Given the description of an element on the screen output the (x, y) to click on. 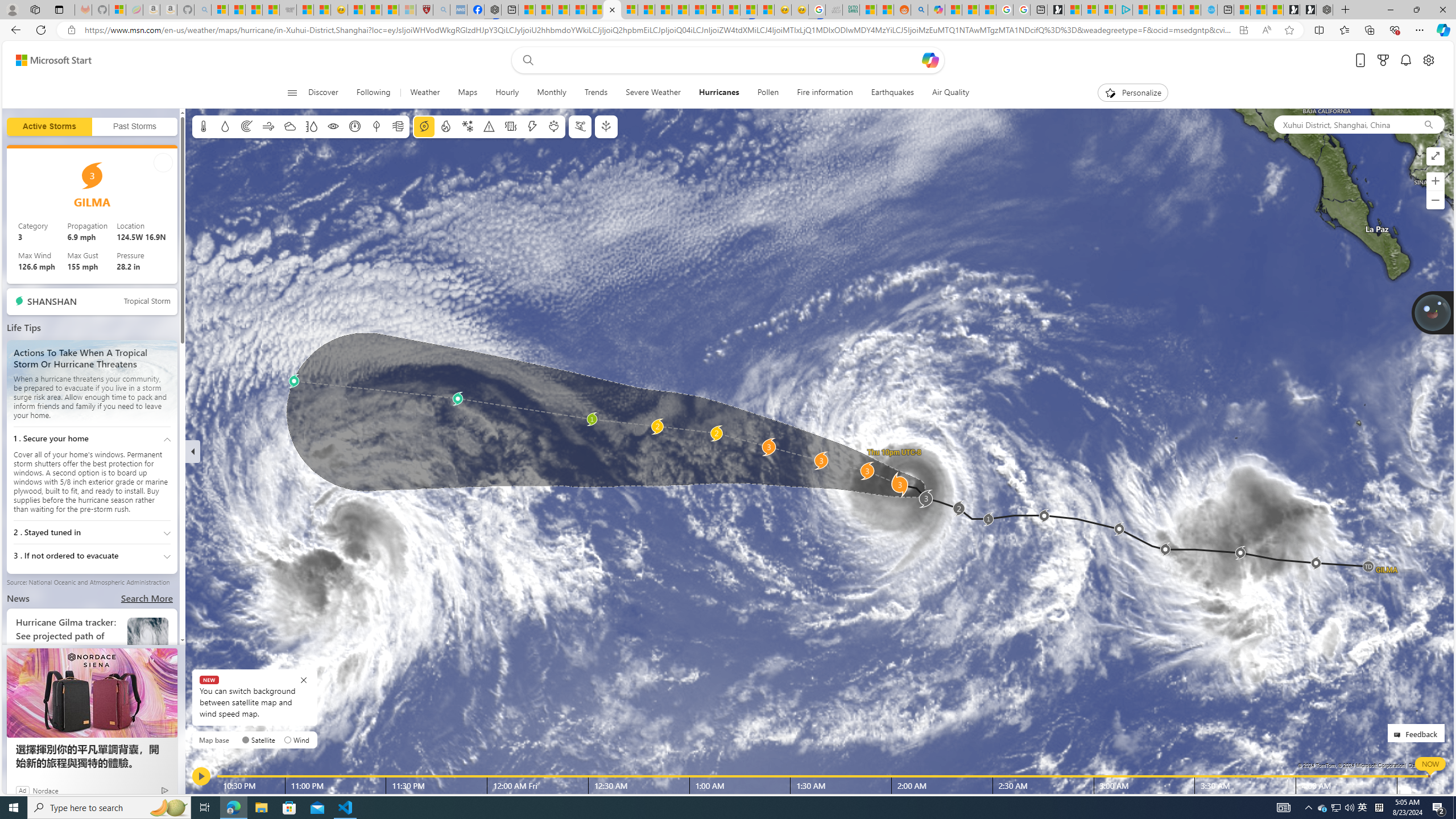
Visibility (333, 126)
Fire information (445, 126)
Dew point (376, 126)
